Given the description of an element on the screen output the (x, y) to click on. 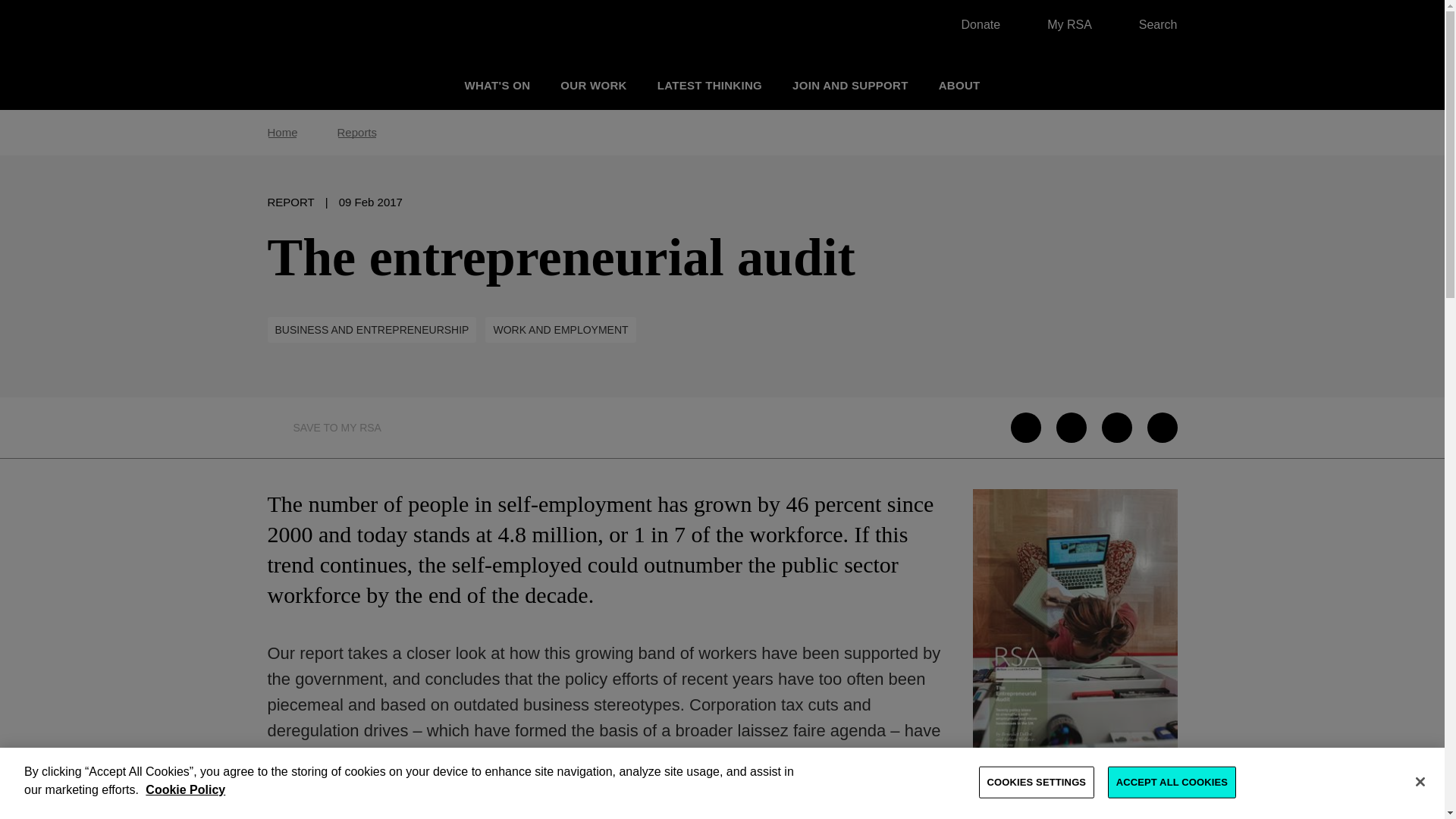
Donate (972, 24)
OUR WORK (593, 84)
LATEST THINKING (709, 84)
My RSA (1061, 24)
WHAT'S ON (496, 84)
Search (1149, 24)
